Given the description of an element on the screen output the (x, y) to click on. 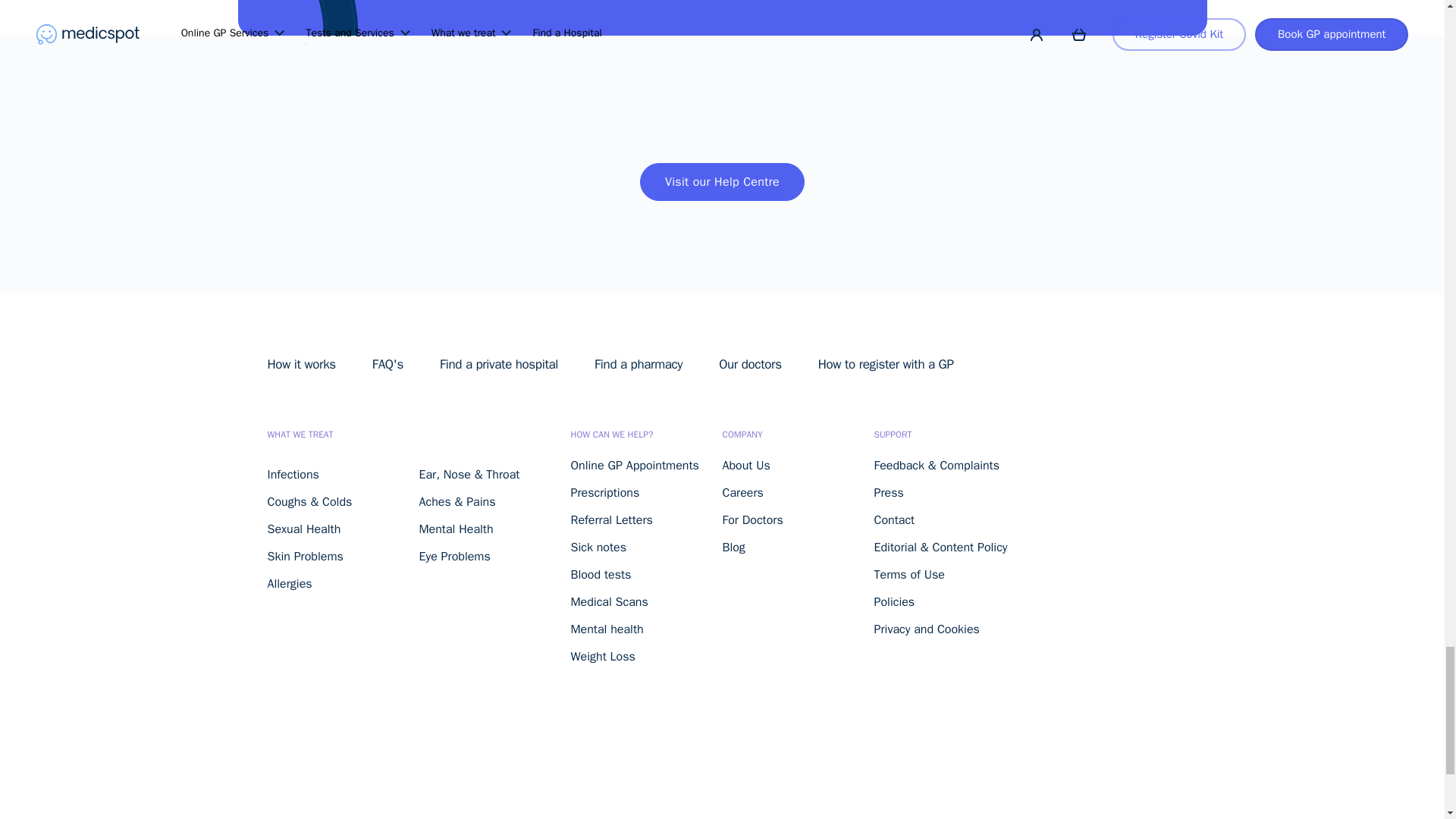
Sexual Health (303, 529)
Infections (292, 474)
Our doctors (750, 364)
About Us (746, 465)
Mental health (606, 629)
Mental Health (456, 529)
Find a pharmacy (638, 364)
Skin Problems (304, 556)
FAQ's (387, 364)
How to register with a GP (885, 364)
Allergies (288, 583)
Weight Loss (602, 656)
Visit our Help Centre (722, 181)
Eye Problems (454, 556)
Careers (742, 492)
